Given the description of an element on the screen output the (x, y) to click on. 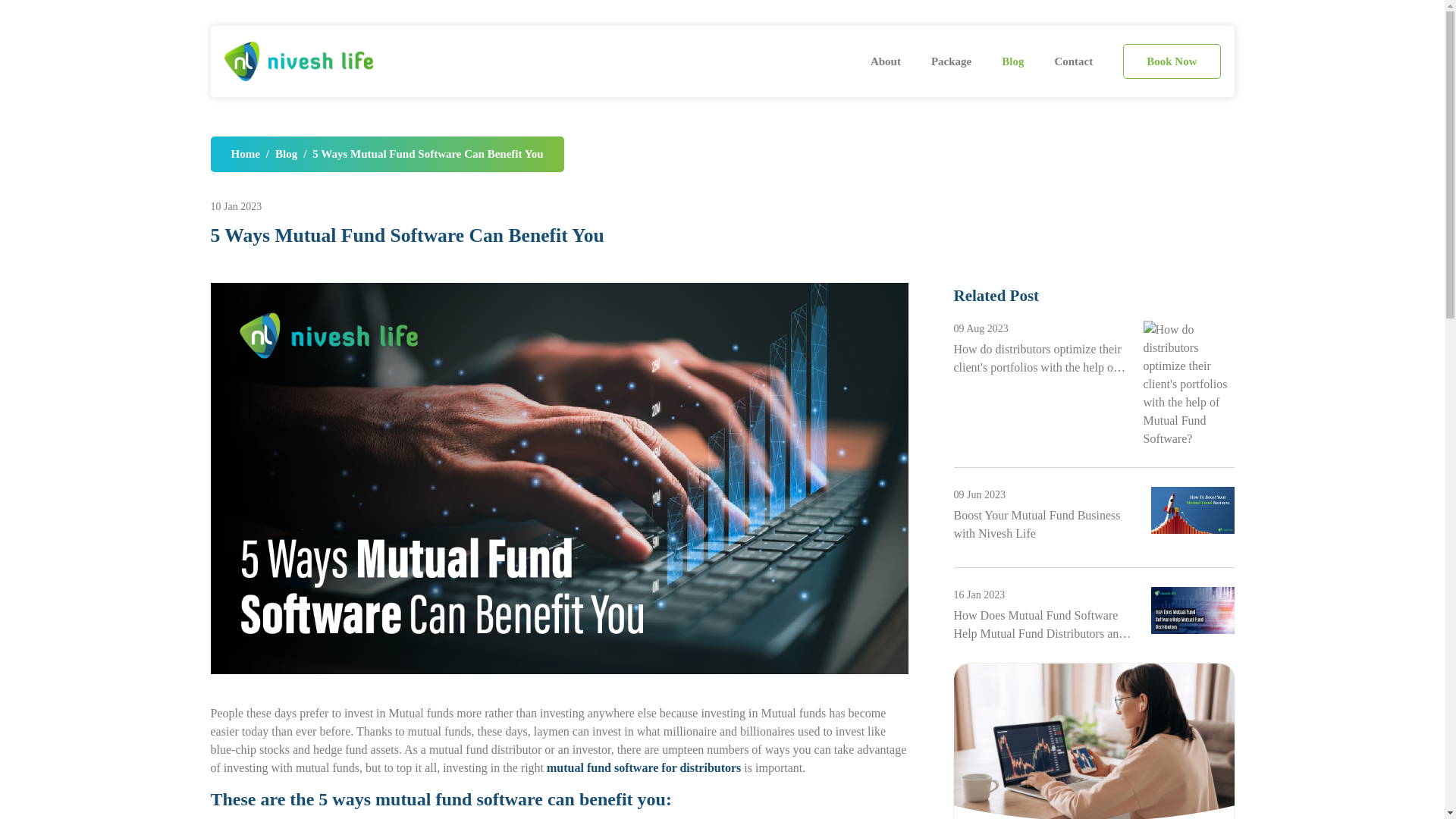
Home (244, 154)
Package (951, 60)
Blog (286, 154)
Contact (1073, 60)
Blog (1012, 60)
nivesh life (298, 61)
Book Now (1171, 61)
